Given the description of an element on the screen output the (x, y) to click on. 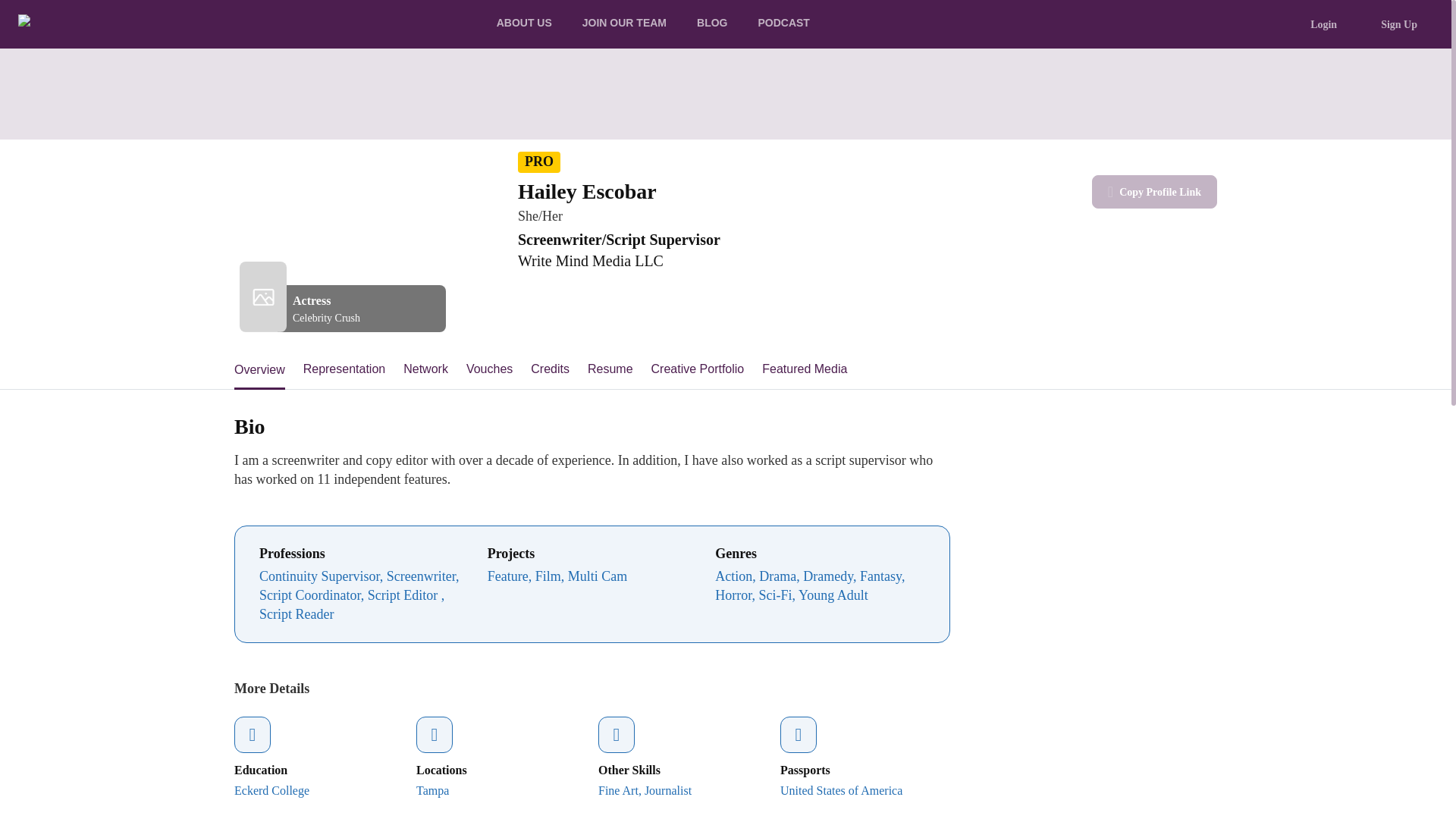
Network (425, 369)
PODCAST (783, 24)
Resume (610, 369)
Creative Portfolio (697, 369)
ABOUT US (524, 24)
Featured Media (804, 369)
Copy Profile Link (1154, 191)
Vouches (488, 369)
Representation (343, 369)
Login (1329, 23)
Overview (259, 369)
Sign Up (1398, 23)
Hailey Escobar, HUSSLUP (366, 211)
JOIN OUR TEAM (624, 24)
Login (1323, 23)
